Given the description of an element on the screen output the (x, y) to click on. 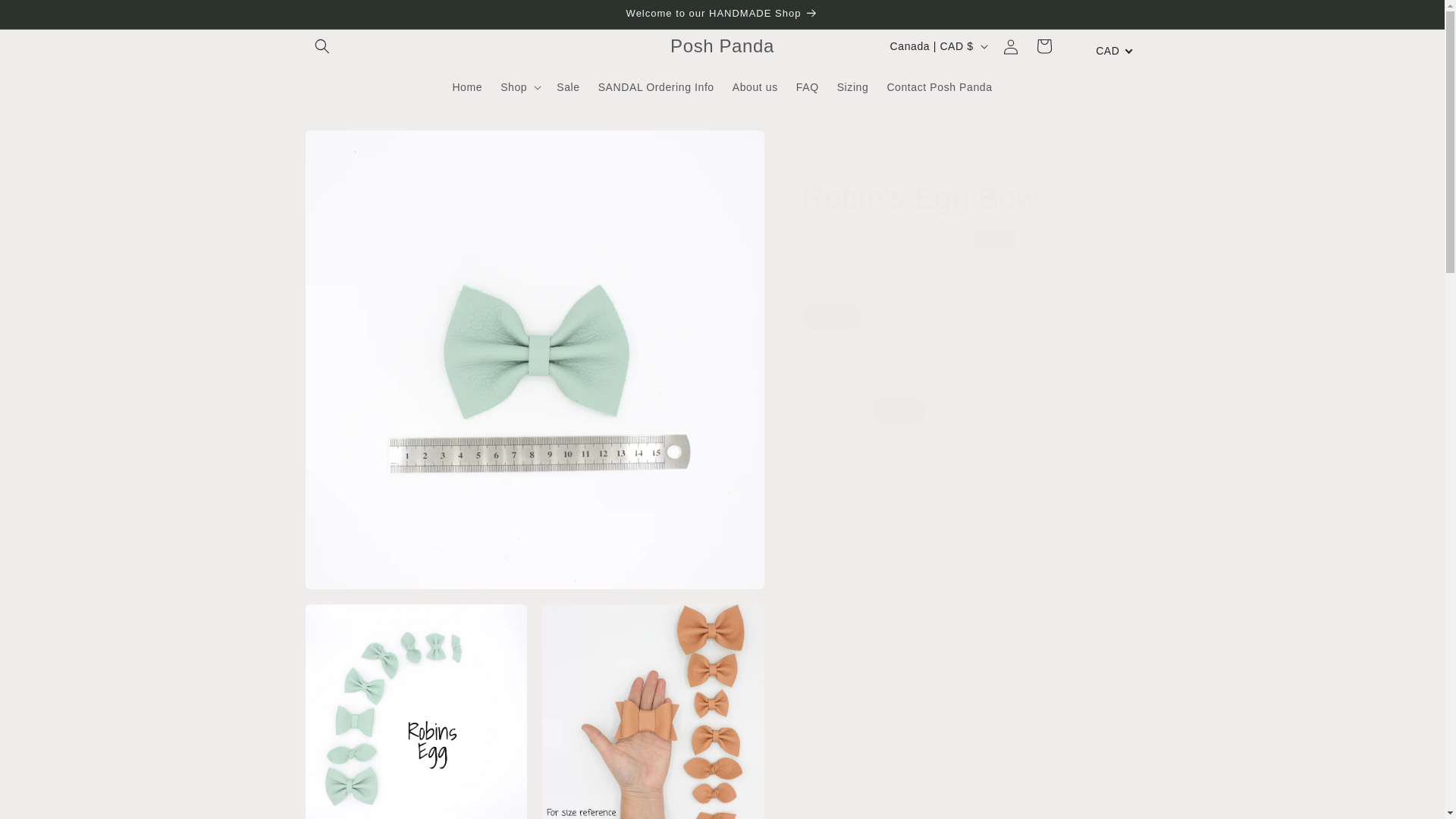
Open media 3 in modal (652, 711)
Welcome to our HANDMADE Shop (721, 14)
1 (856, 473)
Open media 2 in modal (415, 711)
